Given the description of an element on the screen output the (x, y) to click on. 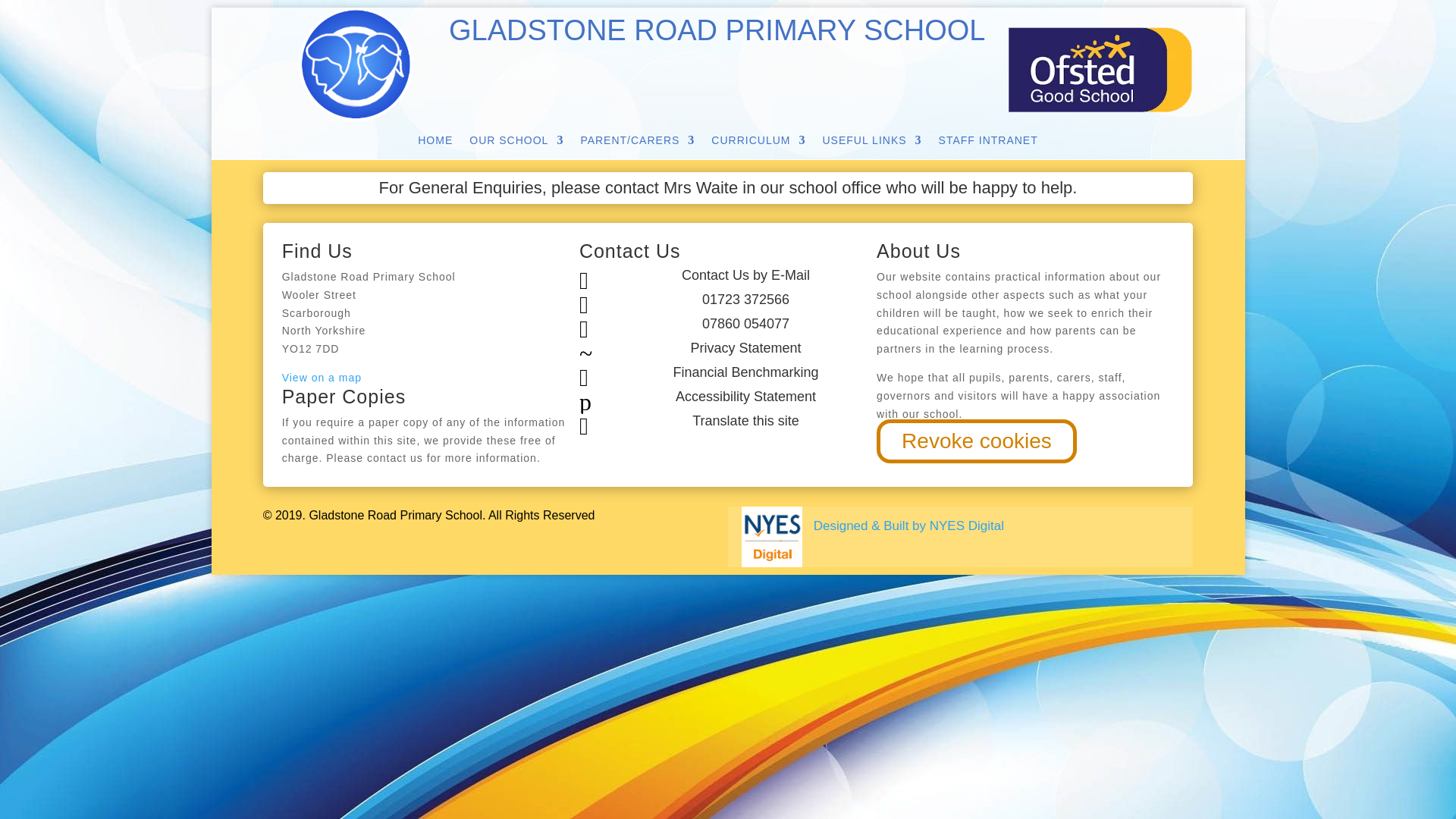
HOME (434, 143)
CURRICULUM (758, 143)
mobile-logo (355, 64)
ofstedgood (1099, 69)
Revoke cookies (976, 441)
OUR SCHOOL (515, 143)
